Given the description of an element on the screen output the (x, y) to click on. 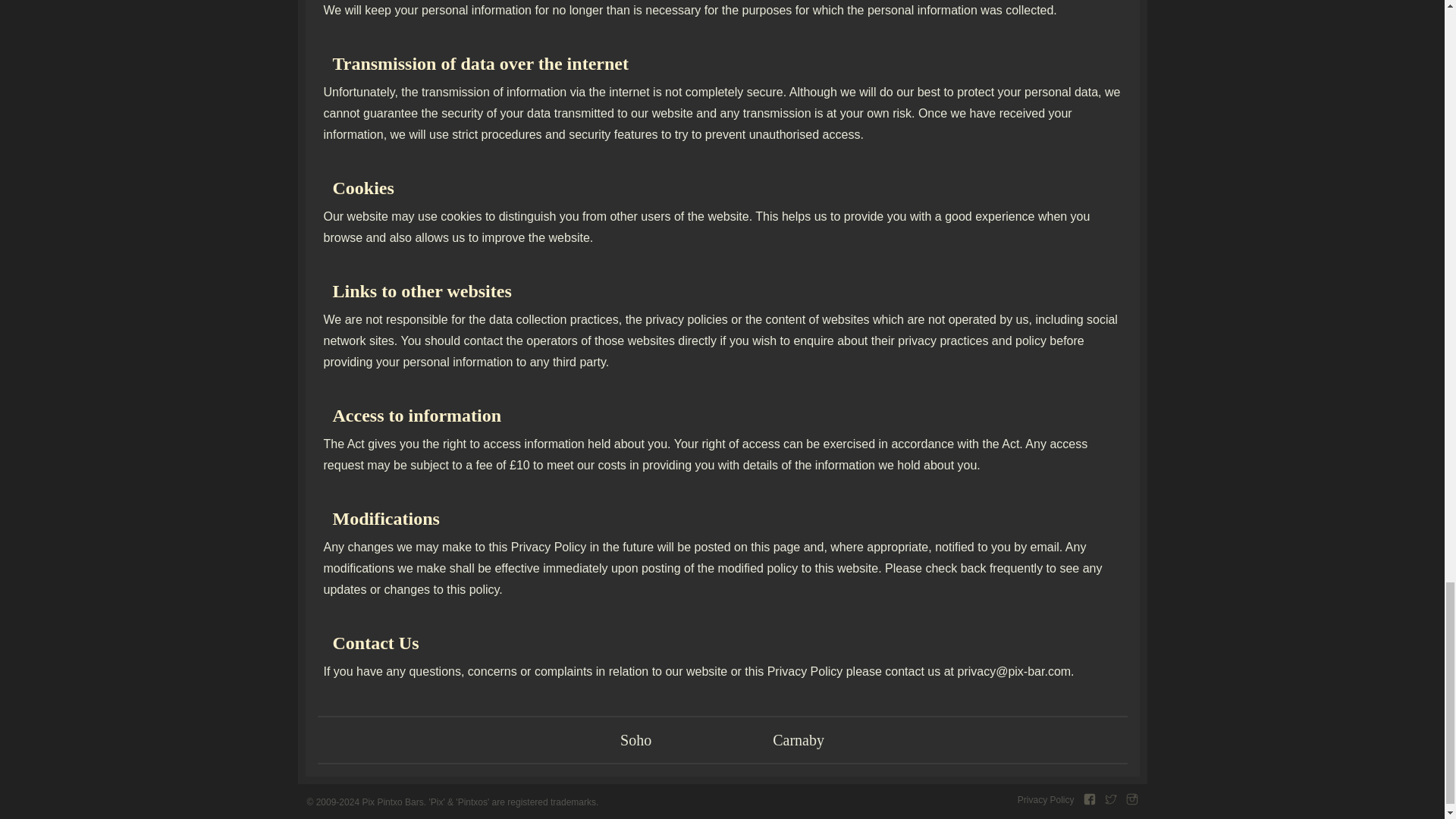
Privacy Policy (1045, 799)
Soho (635, 740)
Pix Pintxos on Instagram (1131, 799)
Pix Pintxos on Twitter (1109, 799)
Pix Pintxos on Facebook (1088, 799)
Carnaby (798, 740)
